Given the description of an element on the screen output the (x, y) to click on. 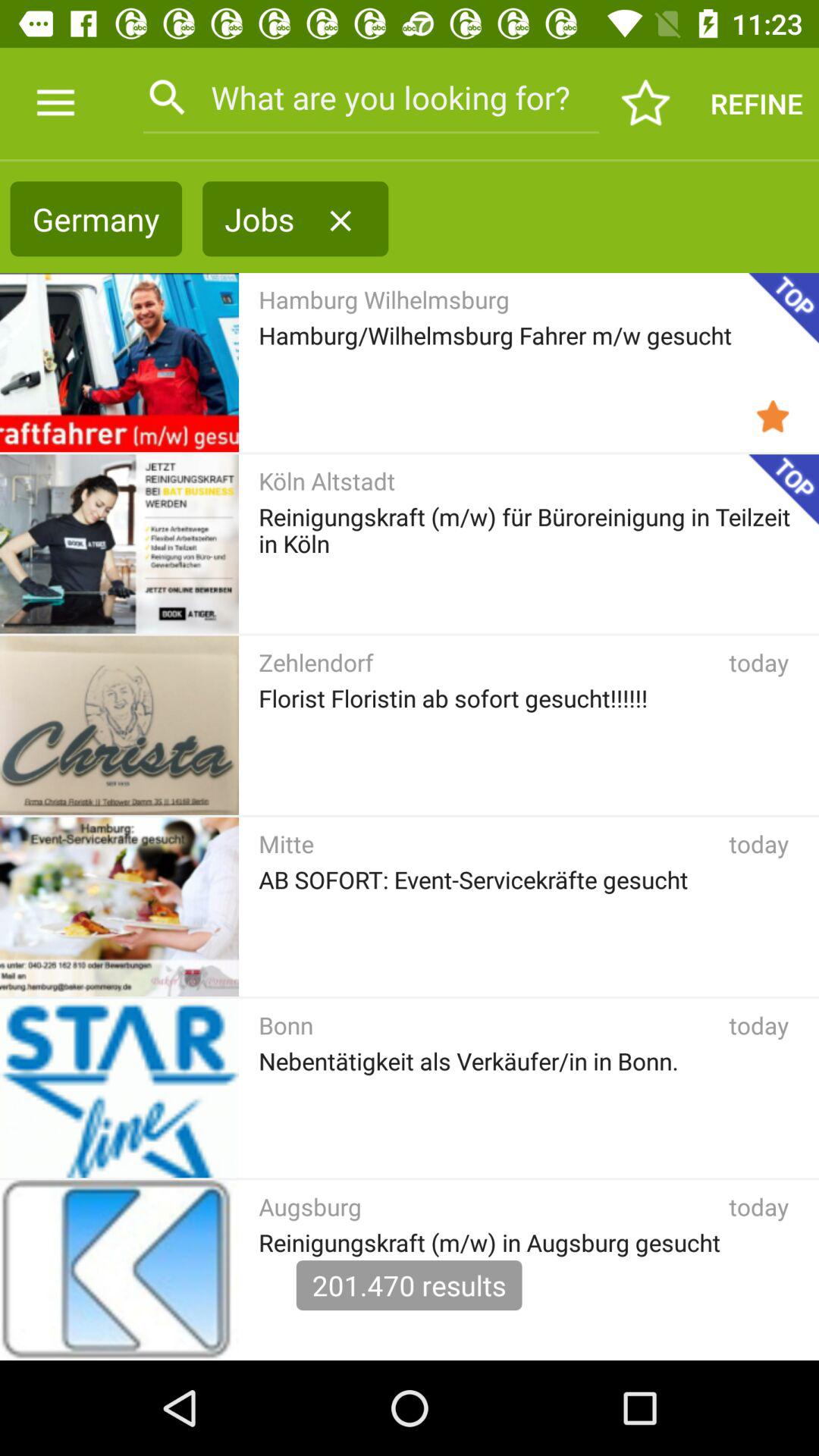
scroll until refine (756, 103)
